Given the description of an element on the screen output the (x, y) to click on. 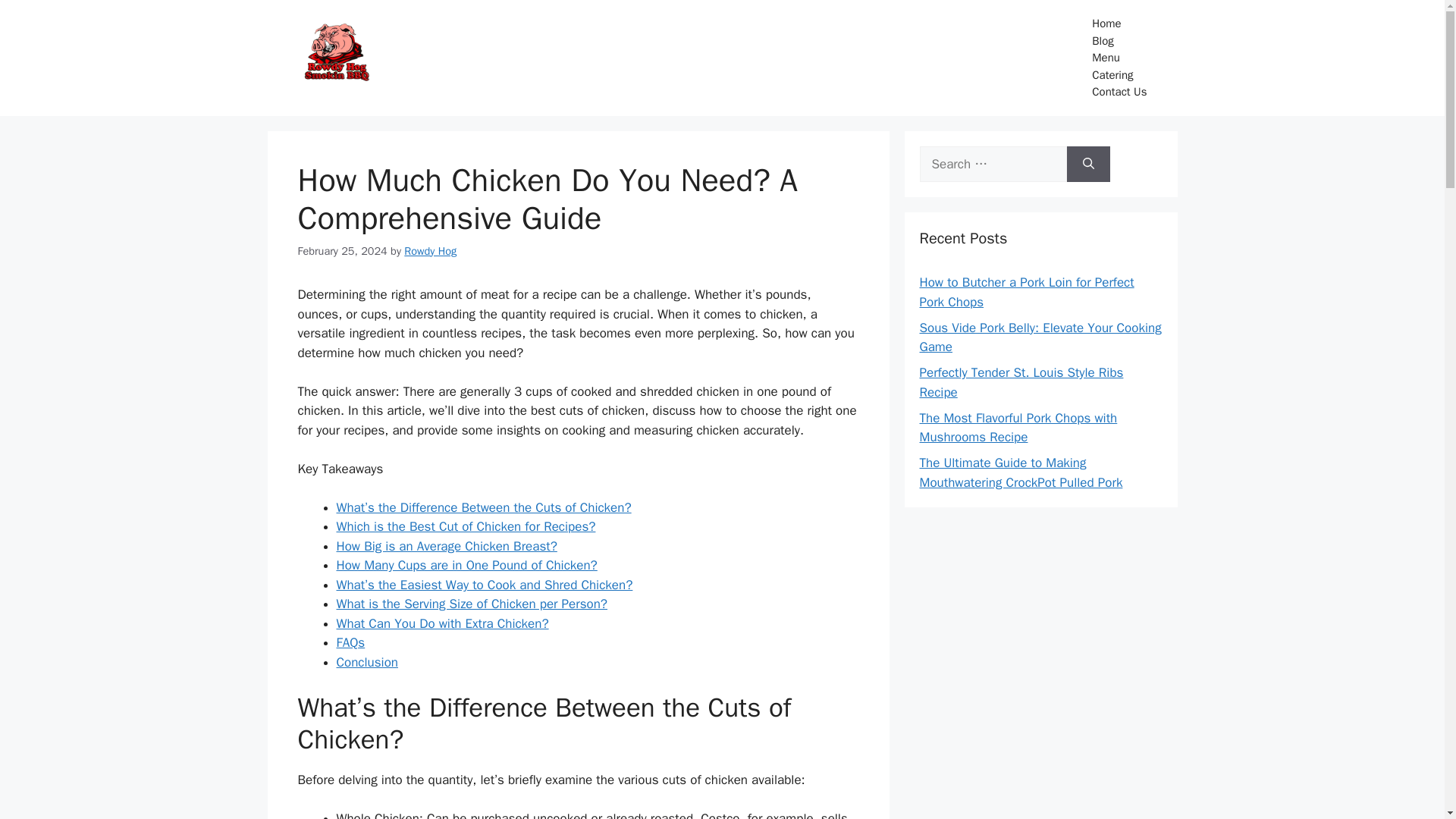
How to Butcher a Pork Loin for Perfect Pork Chops (1026, 292)
How Many Cups are in One Pound of Chicken? (466, 565)
How Big is an Average Chicken Breast? (446, 546)
View all posts by Rowdy Hog (430, 250)
Perfectly Tender St. Louis Style Ribs Recipe (1020, 382)
Rowdy Hog (430, 250)
What Can You Do with Extra Chicken? (442, 623)
Home (1119, 23)
The Most Flavorful Pork Chops with Mushrooms Recipe (1017, 427)
FAQs (350, 642)
Menu (1119, 57)
What is the Serving Size of Chicken per Person? (472, 603)
Blog (1119, 40)
Contact Us (1119, 91)
Conclusion (366, 662)
